Given the description of an element on the screen output the (x, y) to click on. 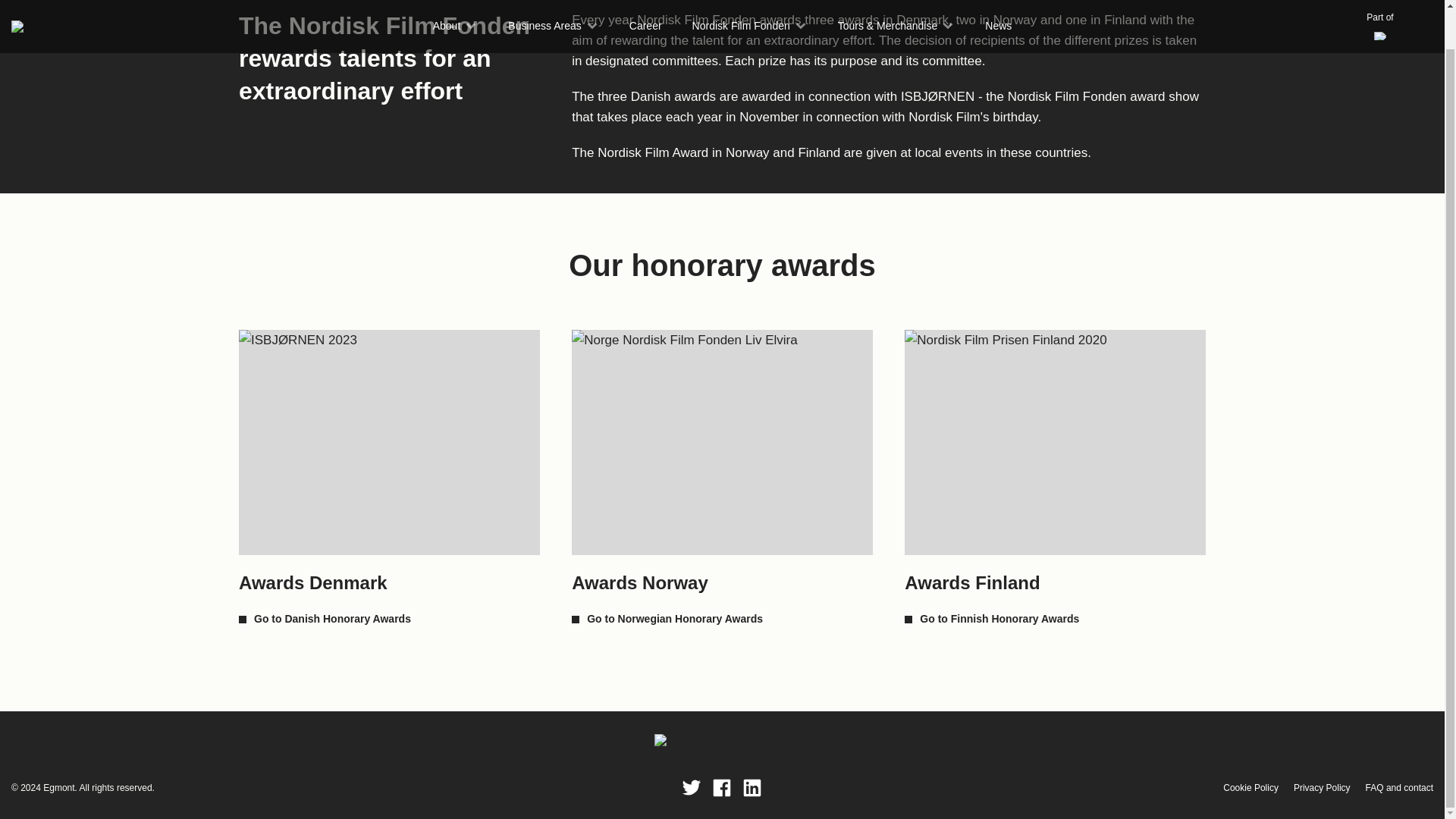
Go to Norwegian Honorary Awards (667, 617)
FAQ and contact (1398, 787)
Go to Danish Honorary Awards (324, 617)
Privacy Policy (1322, 787)
Go to Finnish Honorary Awards (991, 617)
Cookie Policy (1250, 787)
